Given the description of an element on the screen output the (x, y) to click on. 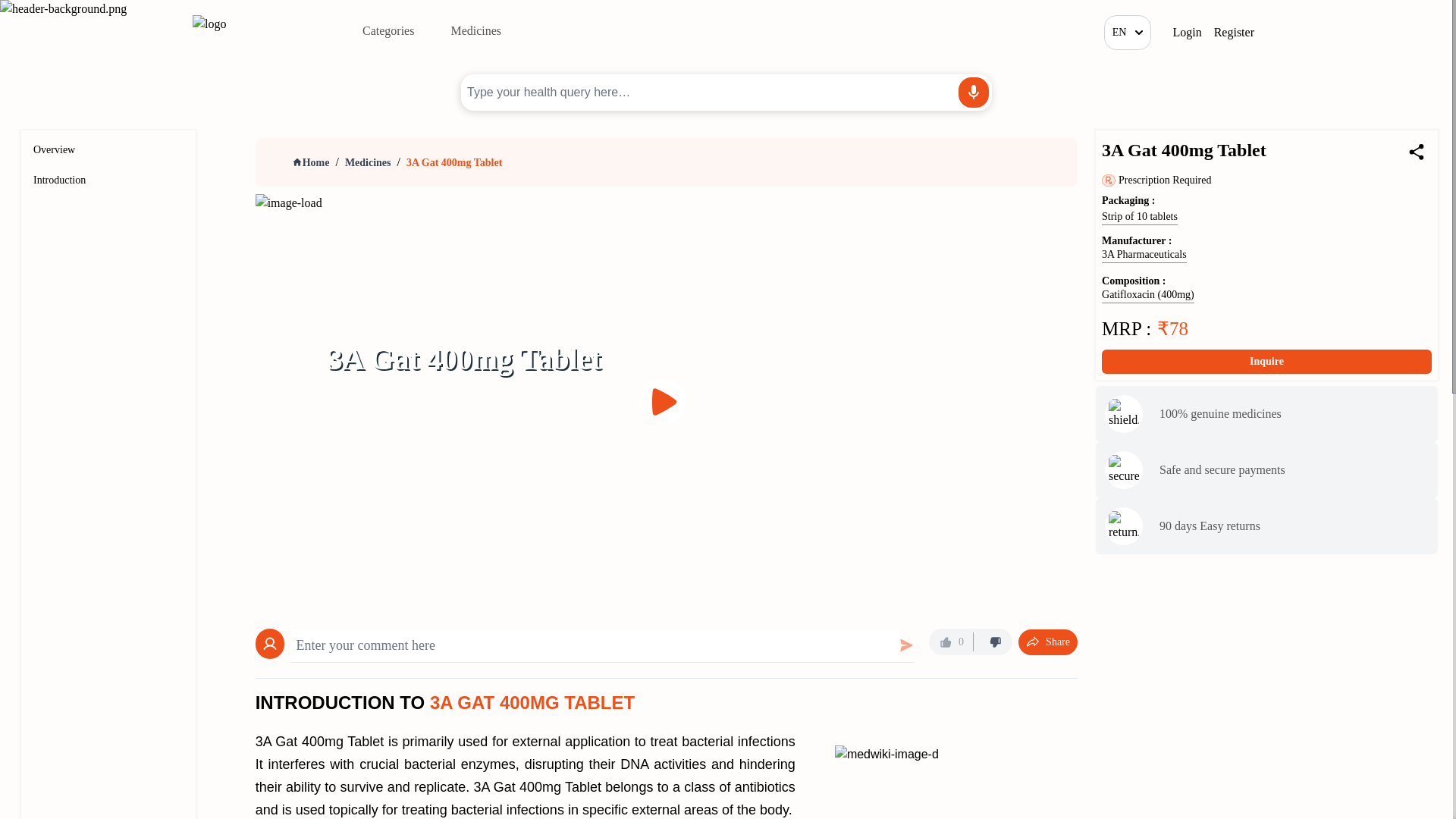
Register (1234, 32)
Overview (54, 150)
Inquire (1266, 360)
EN (1127, 32)
Medicines (475, 30)
3A Pharmaceuticals (1144, 254)
Medicines (368, 162)
Home (310, 162)
Introduction (59, 180)
Categories (388, 30)
